Given the description of an element on the screen output the (x, y) to click on. 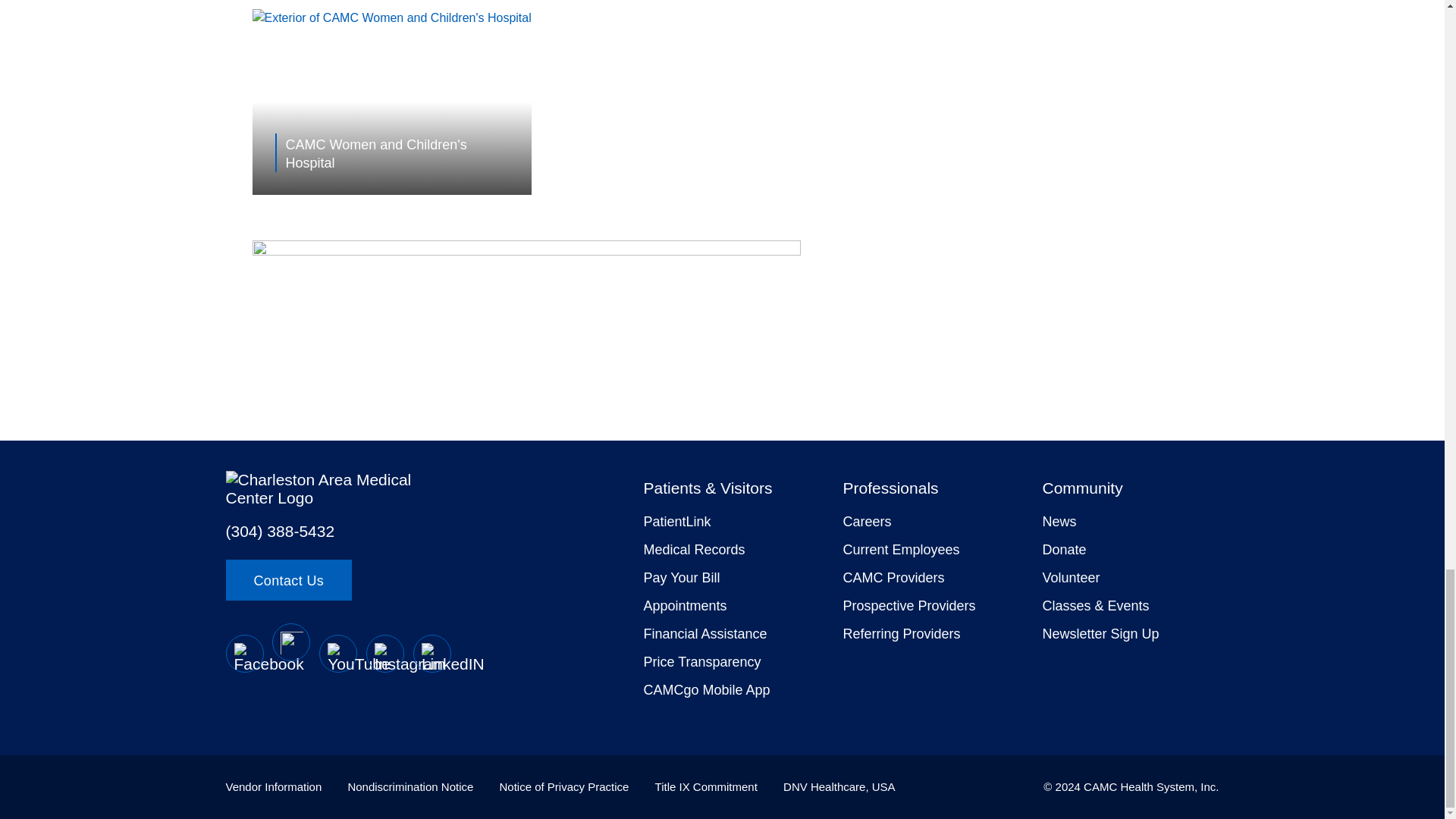
Blue Distinction Specialty Care (525, 250)
CAMC Women and Children's Hospital (403, 152)
